Given the description of an element on the screen output the (x, y) to click on. 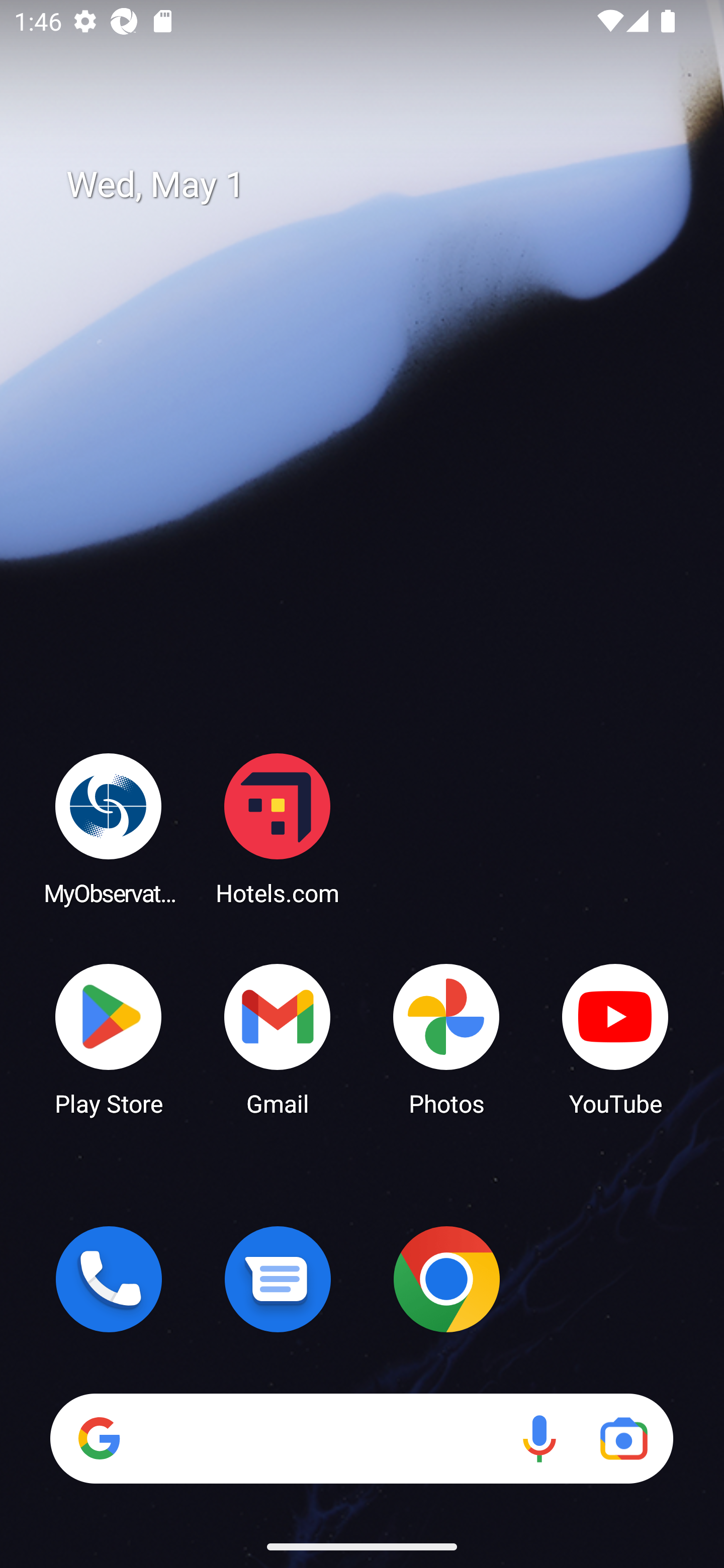
Wed, May 1 (375, 184)
MyObservatory (108, 828)
Hotels.com (277, 828)
Play Store (108, 1038)
Gmail (277, 1038)
Photos (445, 1038)
YouTube (615, 1038)
Phone (108, 1279)
Messages (277, 1279)
Chrome (446, 1279)
Search Voice search Google Lens (361, 1438)
Voice search (539, 1438)
Google Lens (623, 1438)
